Given the description of an element on the screen output the (x, y) to click on. 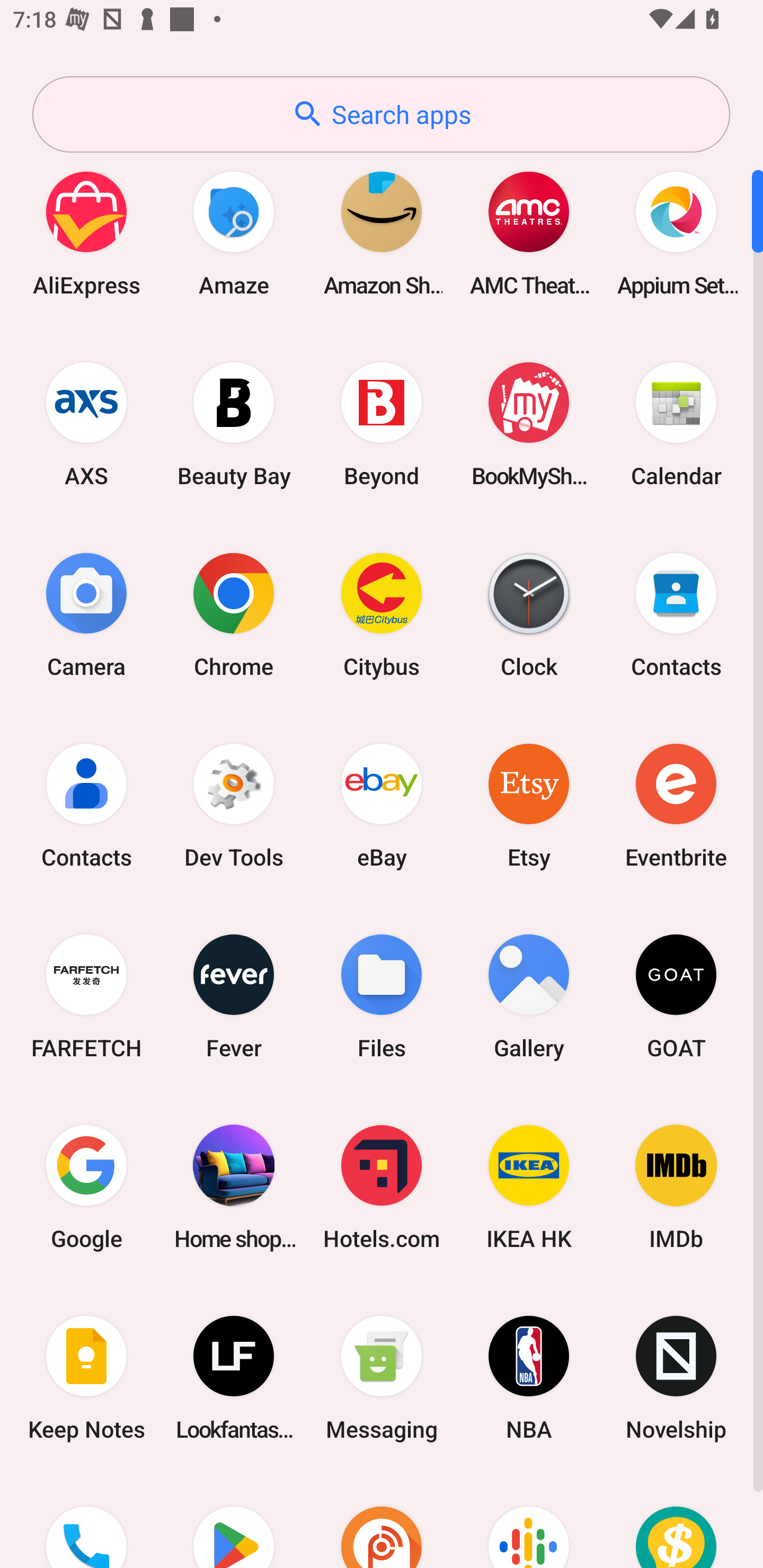
  Search apps (381, 114)
AliExpress (86, 233)
Amaze (233, 233)
Amazon Shopping (381, 233)
AMC Theatres (528, 233)
Appium Settings (676, 233)
AXS (86, 424)
Beauty Bay (233, 424)
Beyond (381, 424)
BookMyShow (528, 424)
Calendar (676, 424)
Camera (86, 614)
Chrome (233, 614)
Citybus (381, 614)
Clock (528, 614)
Contacts (676, 614)
Contacts (86, 805)
Dev Tools (233, 805)
eBay (381, 805)
Etsy (528, 805)
Eventbrite (676, 805)
FARFETCH (86, 996)
Fever (233, 996)
Files (381, 996)
Gallery (528, 996)
GOAT (676, 996)
Google (86, 1186)
Home shopping (233, 1186)
Hotels.com (381, 1186)
IKEA HK (528, 1186)
IMDb (676, 1186)
Keep Notes (86, 1377)
Lookfantastic (233, 1377)
Messaging (381, 1377)
NBA (528, 1377)
Novelship (676, 1377)
Phone (86, 1520)
Play Store (233, 1520)
Podcast Addict (381, 1520)
Podcasts (528, 1520)
Price (676, 1520)
